Given the description of an element on the screen output the (x, y) to click on. 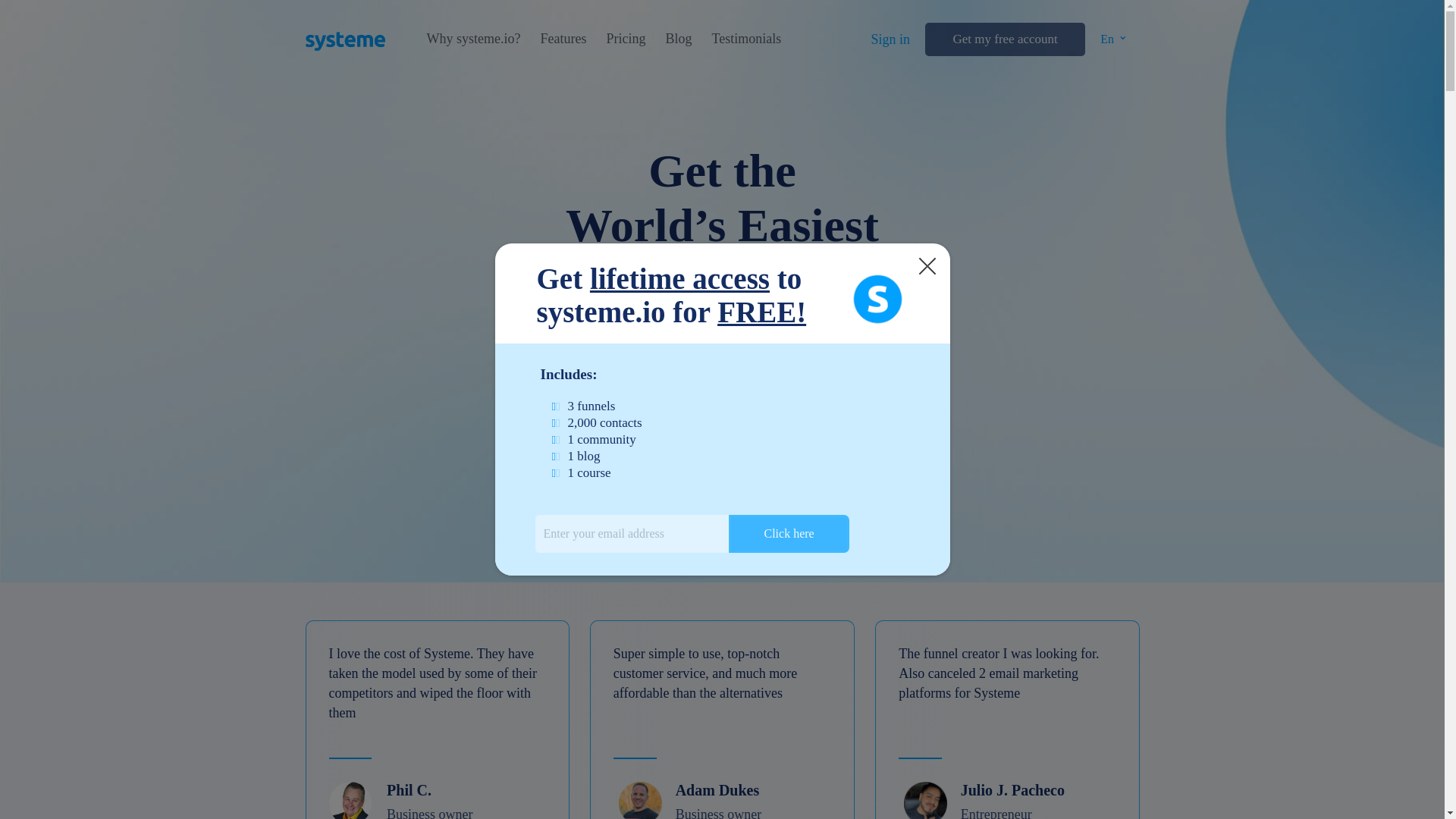
Blog (678, 38)
Features (563, 38)
Pricing (625, 38)
Sign in (890, 39)
Testimonials (745, 38)
Why systeme.io? (472, 38)
Get my free account (1004, 39)
